Given the description of an element on the screen output the (x, y) to click on. 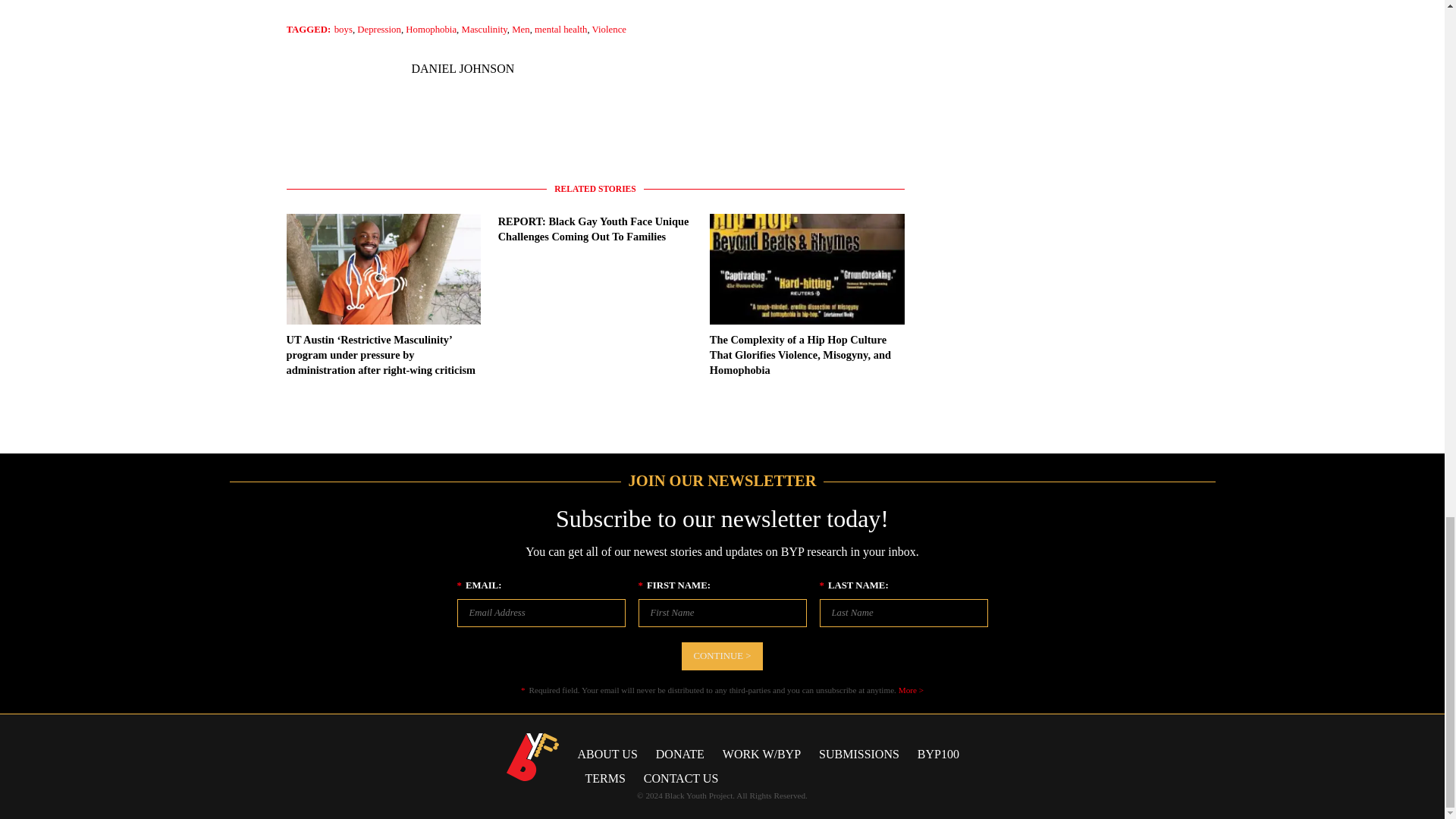
Posts by Daniel Johnson (461, 68)
Men (520, 29)
DANIEL JOHNSON (461, 68)
Violence (609, 29)
boys (343, 29)
Homophobia (431, 29)
mental health (560, 29)
Depression (378, 29)
